Given the description of an element on the screen output the (x, y) to click on. 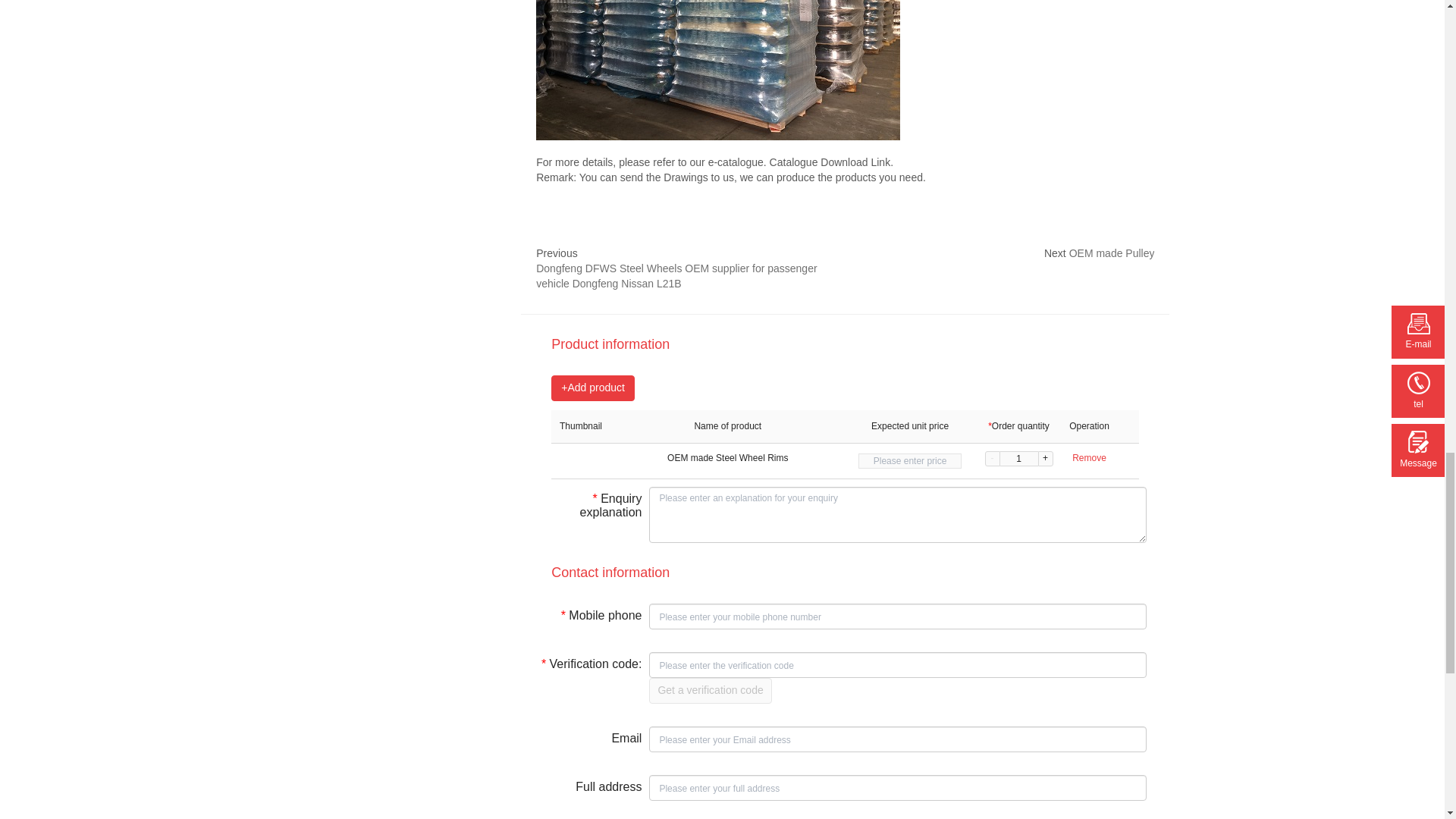
OEM made Steel Wheel Rims (727, 458)
Get a verification code (710, 690)
OEM made Pulley (1111, 253)
Remove (1088, 457)
1 (1019, 458)
